Given the description of an element on the screen output the (x, y) to click on. 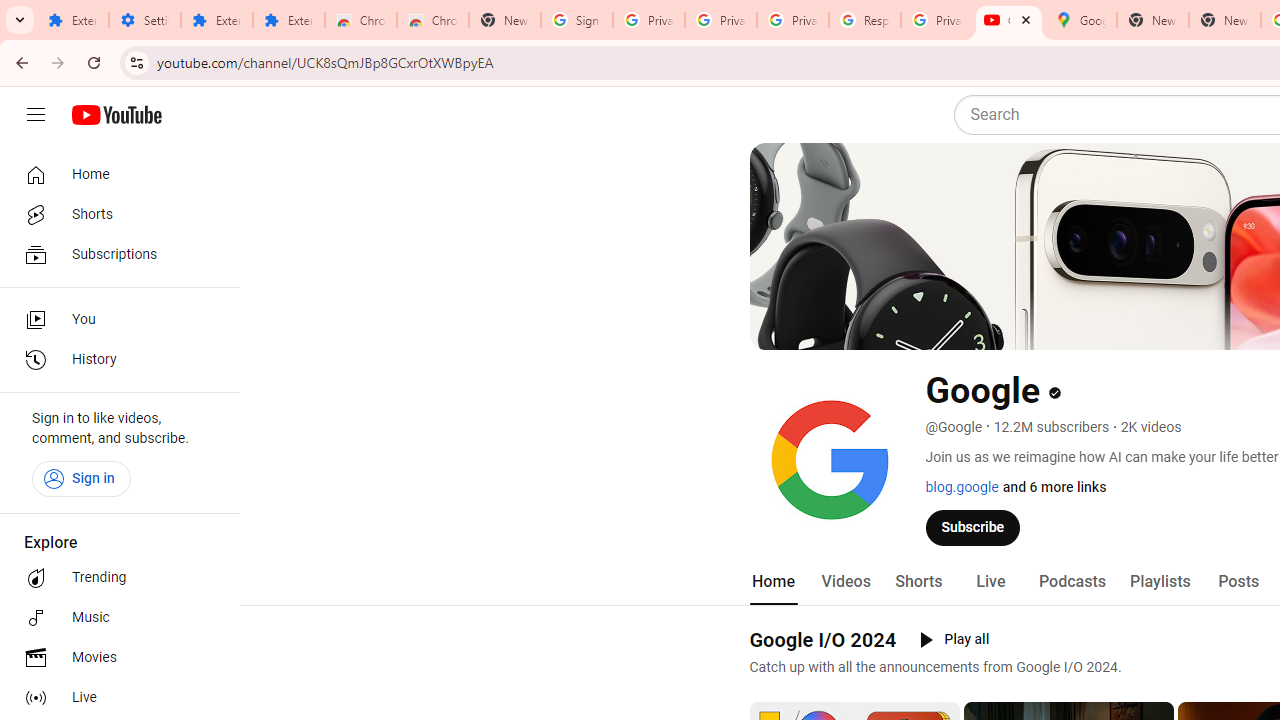
Videos (845, 581)
Chrome Web Store (360, 20)
Extensions (216, 20)
and 6 more links (1054, 487)
Subscribe (973, 527)
Play all (954, 640)
YouTube Home (116, 115)
Podcasts (1072, 581)
Shorts (918, 581)
Extensions (72, 20)
